Given the description of an element on the screen output the (x, y) to click on. 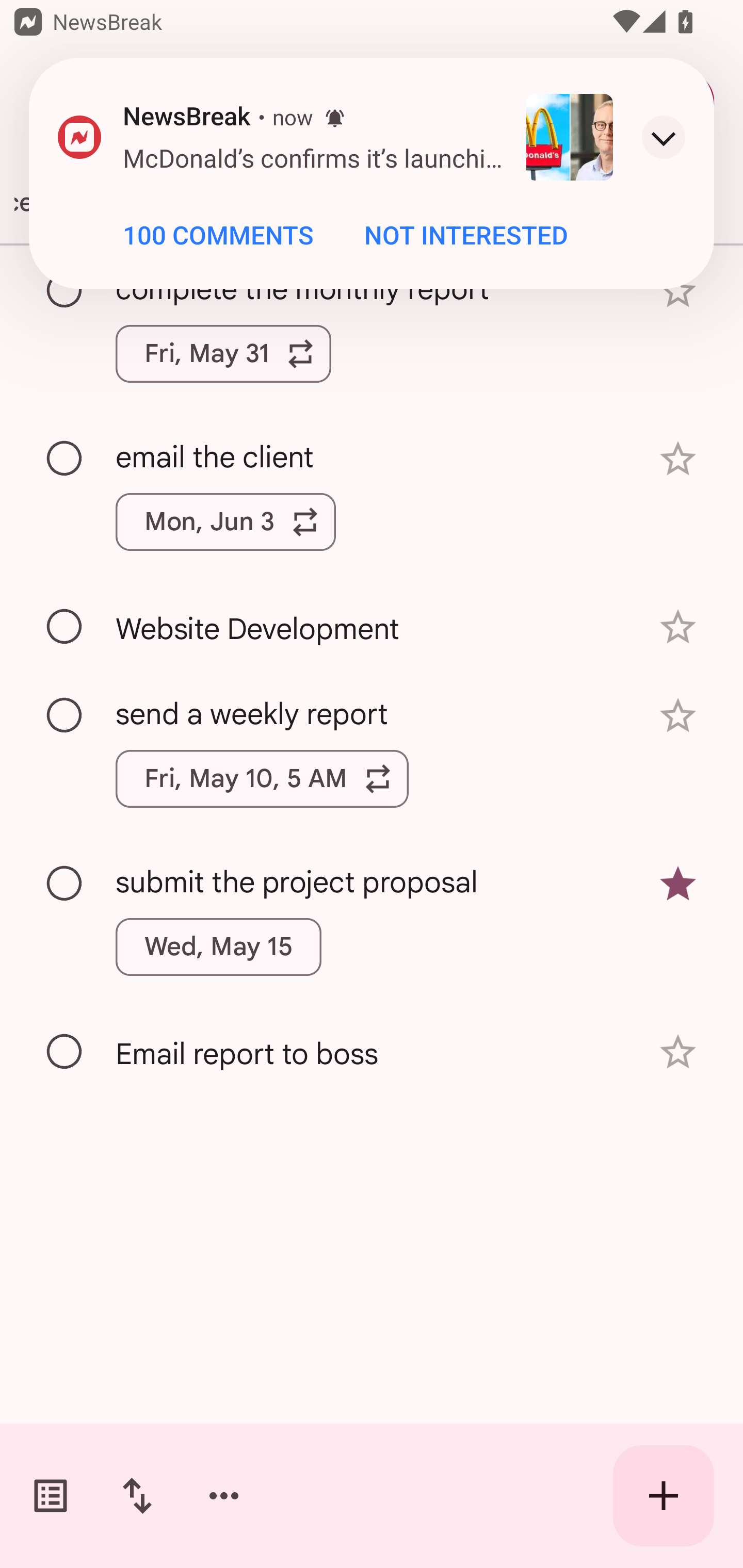
Fri, May 31 (223, 353)
Add star (677, 458)
Mark as complete (64, 459)
Mon, Jun 3 (225, 522)
Add star (677, 627)
Mark as complete (64, 627)
Add star (677, 715)
Mark as complete (64, 715)
Fri, May 10, 5 AM (261, 778)
Remove star (677, 883)
Mark as complete (64, 884)
Wed, May 15 (218, 946)
Add star (677, 1052)
Mark as complete (64, 1052)
Switch task lists (50, 1495)
Create new task (663, 1495)
Change sort order (136, 1495)
More options (223, 1495)
